Given the description of an element on the screen output the (x, y) to click on. 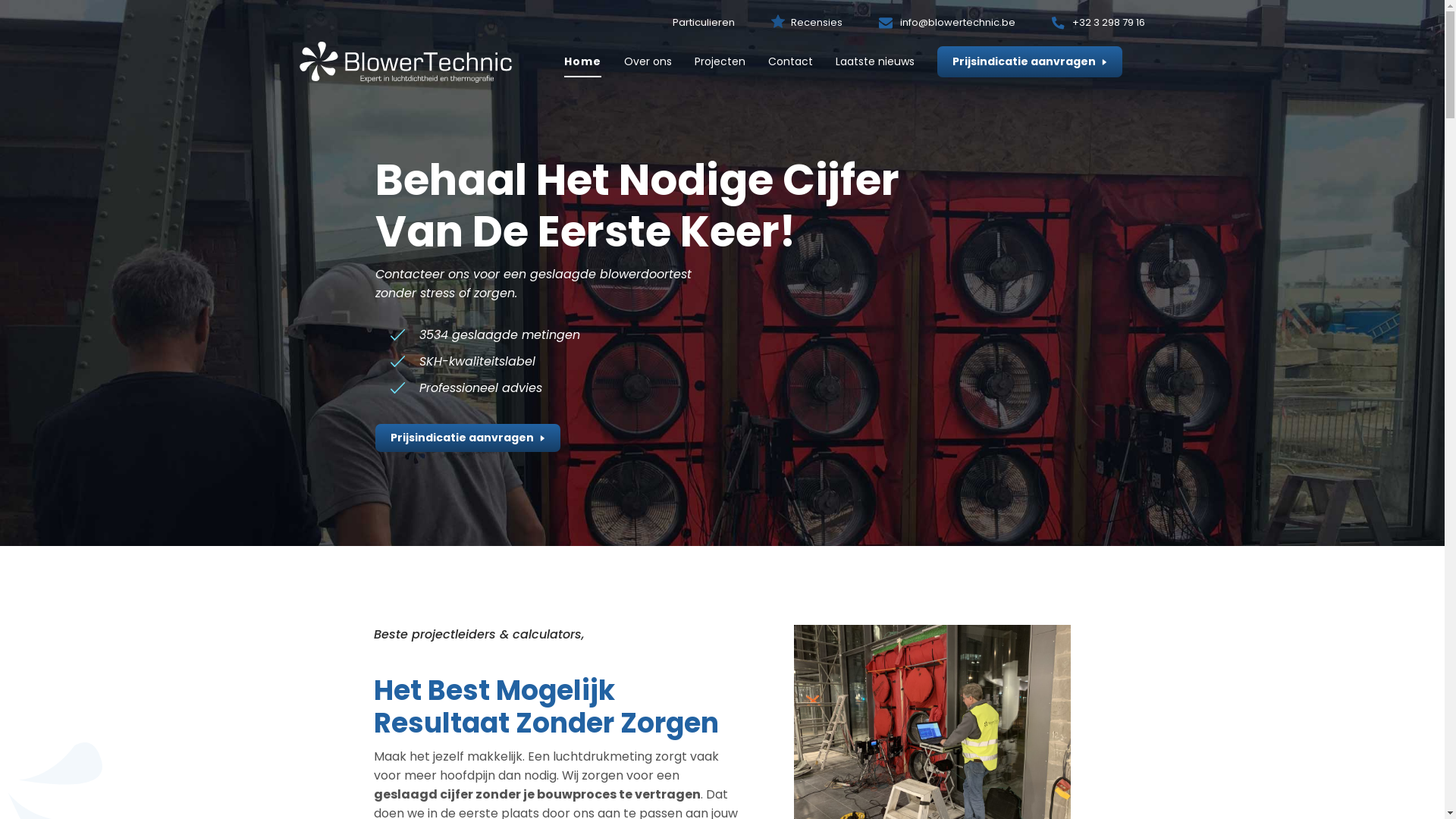
Particulieren Element type: text (718, 22)
Home Element type: text (582, 61)
Prijsindicatie aanvragen Element type: text (1029, 61)
info@blowertechnic.be Element type: text (946, 22)
+32 3 298 79 16 Element type: text (1098, 22)
Laatste nieuws Element type: text (874, 61)
Projecten Element type: text (719, 61)
Over ons Element type: text (647, 61)
Contact Element type: text (790, 61)
Prijsindicatie aanvragen Element type: text (467, 437)
Recensies Element type: text (831, 22)
